Given the description of an element on the screen output the (x, y) to click on. 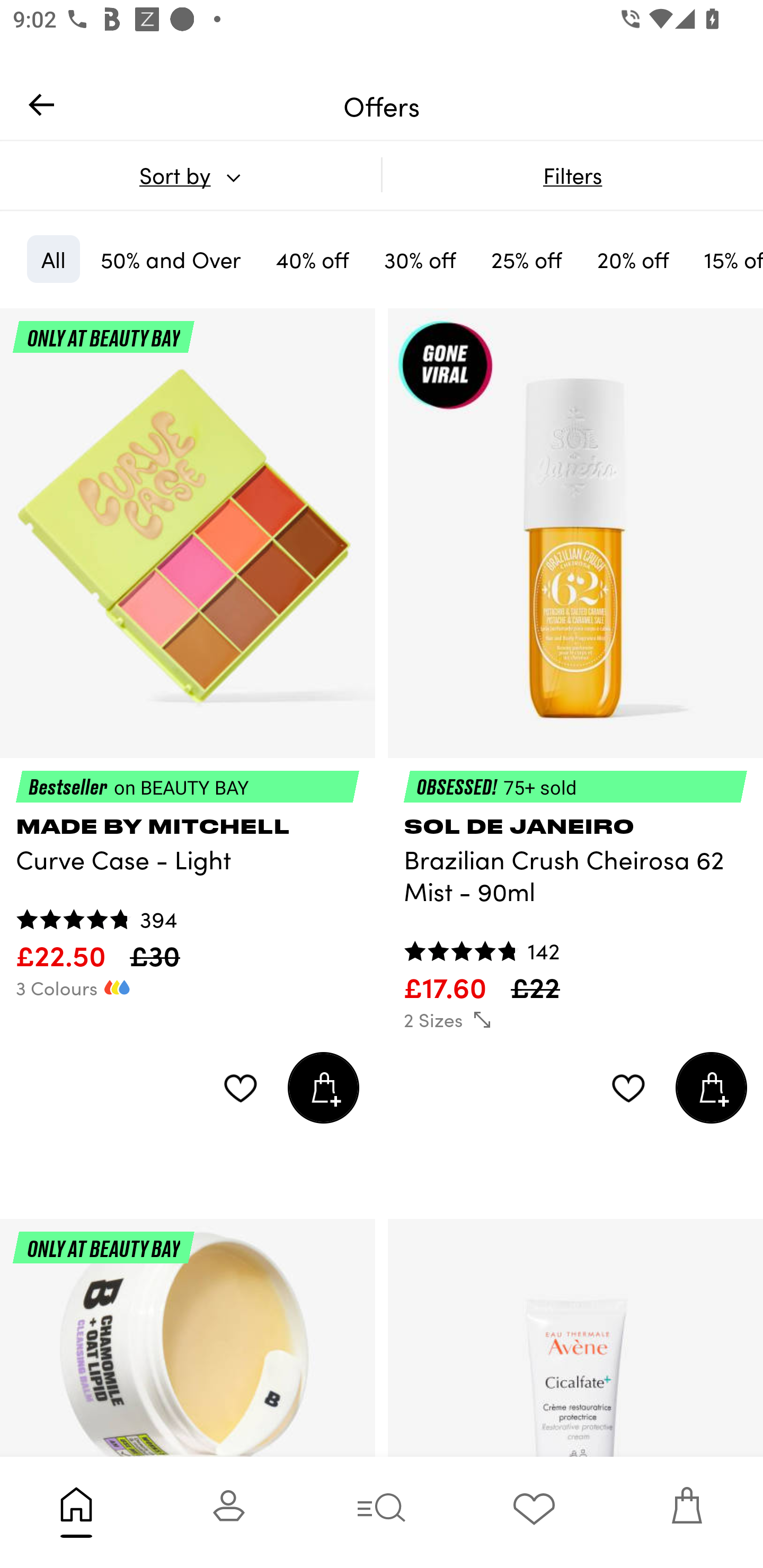
Sort by (190, 174)
Filters (572, 174)
All (53, 258)
50% and Over (170, 258)
40% off (312, 258)
30% off (420, 258)
25% off (526, 258)
20% off (632, 258)
15% off (726, 258)
